Given the description of an element on the screen output the (x, y) to click on. 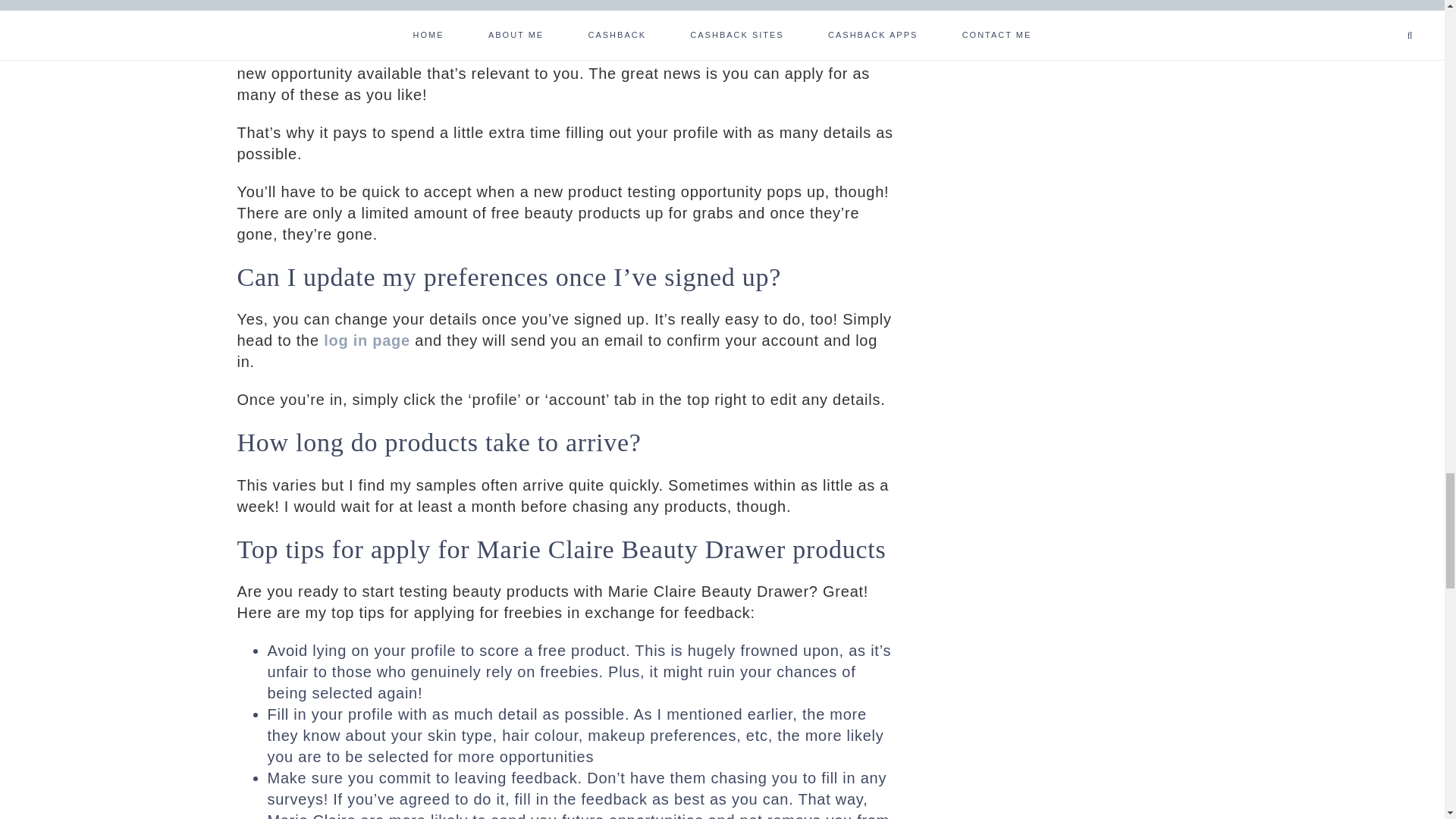
log in page (366, 340)
